Given the description of an element on the screen output the (x, y) to click on. 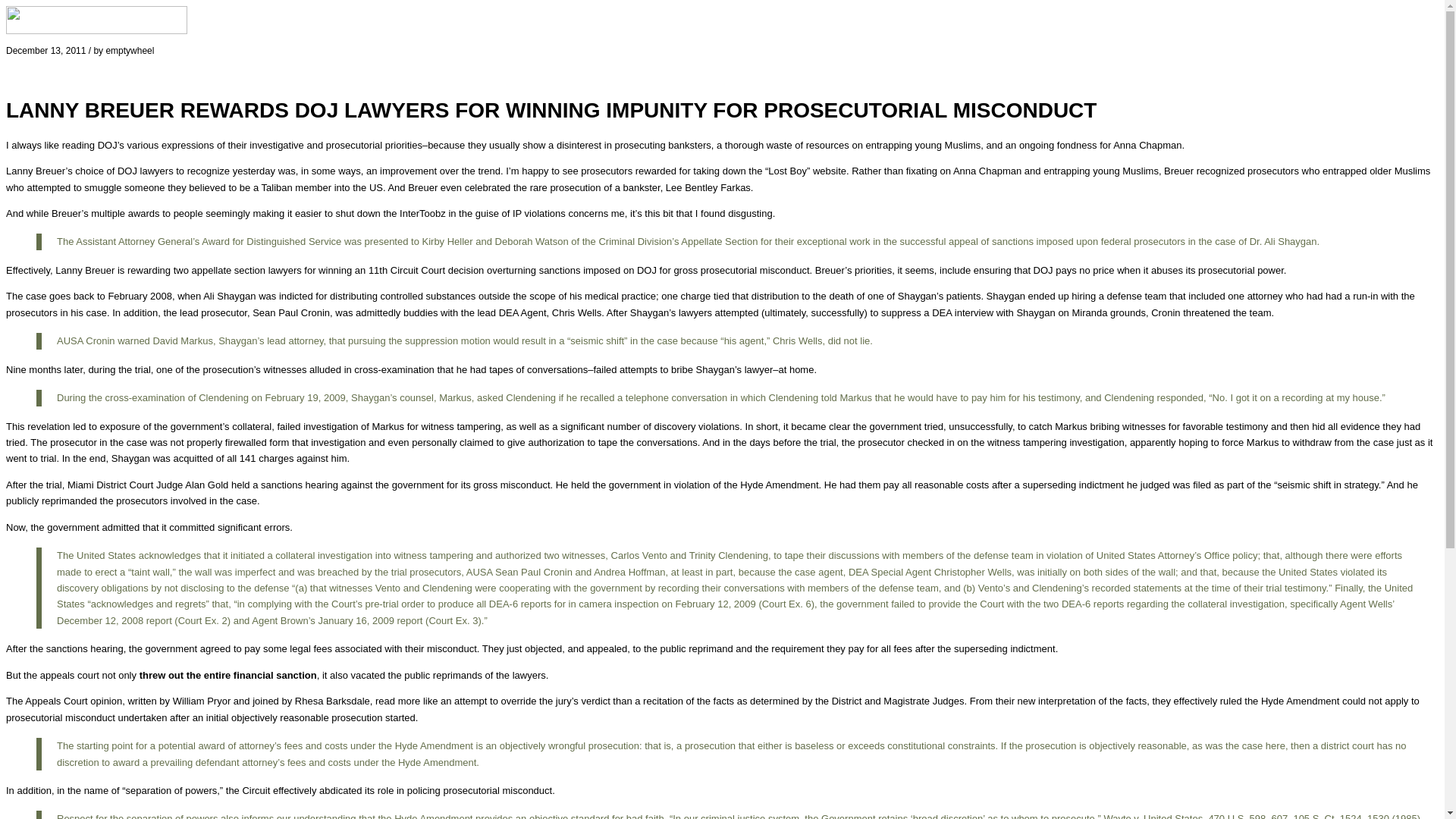
11th Circuit Court decision (425, 270)
celebrated the rare prosecution of a bankster (562, 187)
sanctions imposed on DOJ (597, 270)
Lost Boy (787, 170)
choice of DOJ lawyers to recognize yesterday (175, 170)
an ongoing fondness for Anna Chapman (1094, 144)
Appeals Court opinion (73, 700)
waste of resources on entrapping young Muslims (874, 144)
recognized prosecutors (1247, 170)
